Given the description of an element on the screen output the (x, y) to click on. 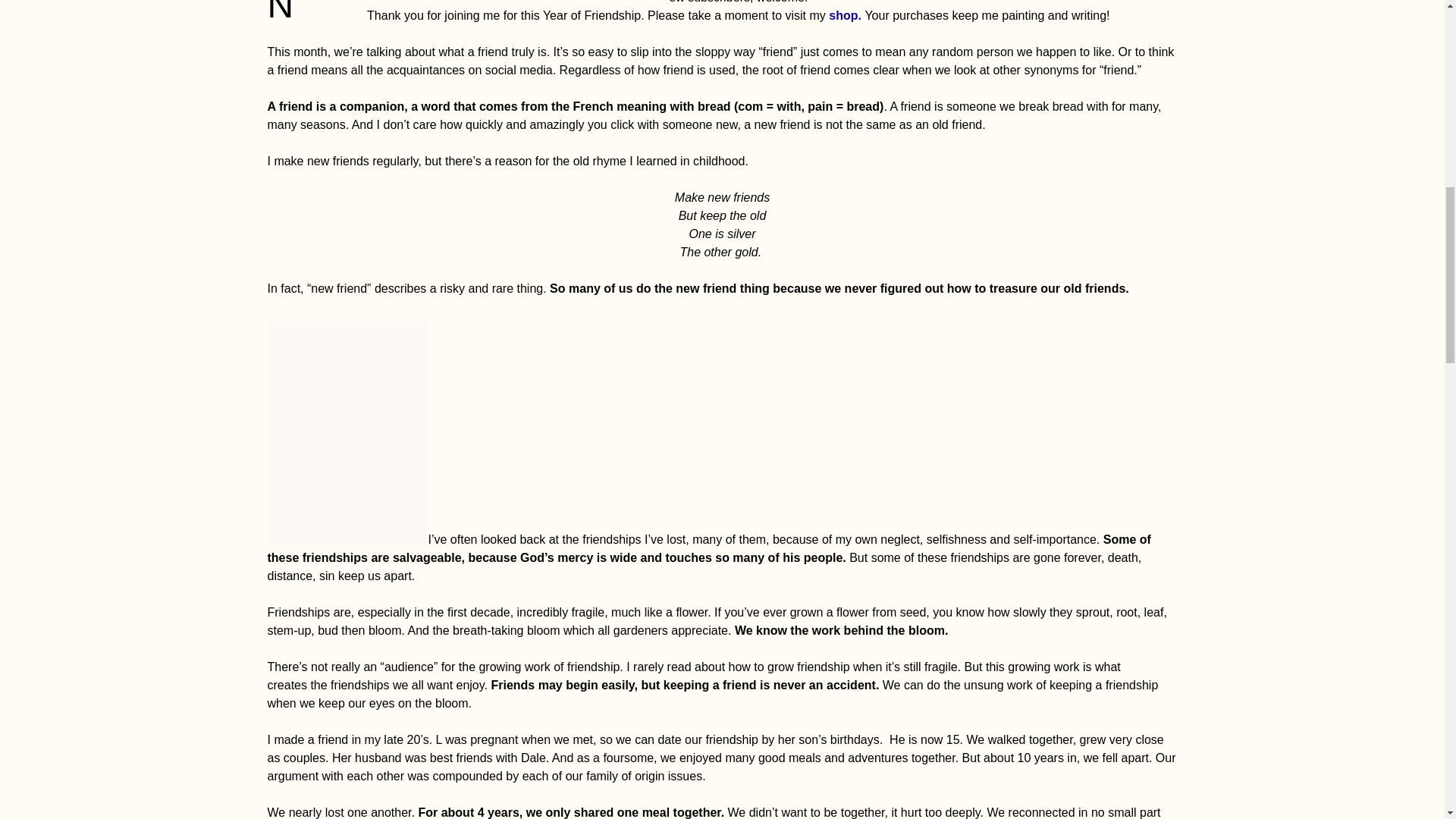
shop. (846, 15)
